Given the description of an element on the screen output the (x, y) to click on. 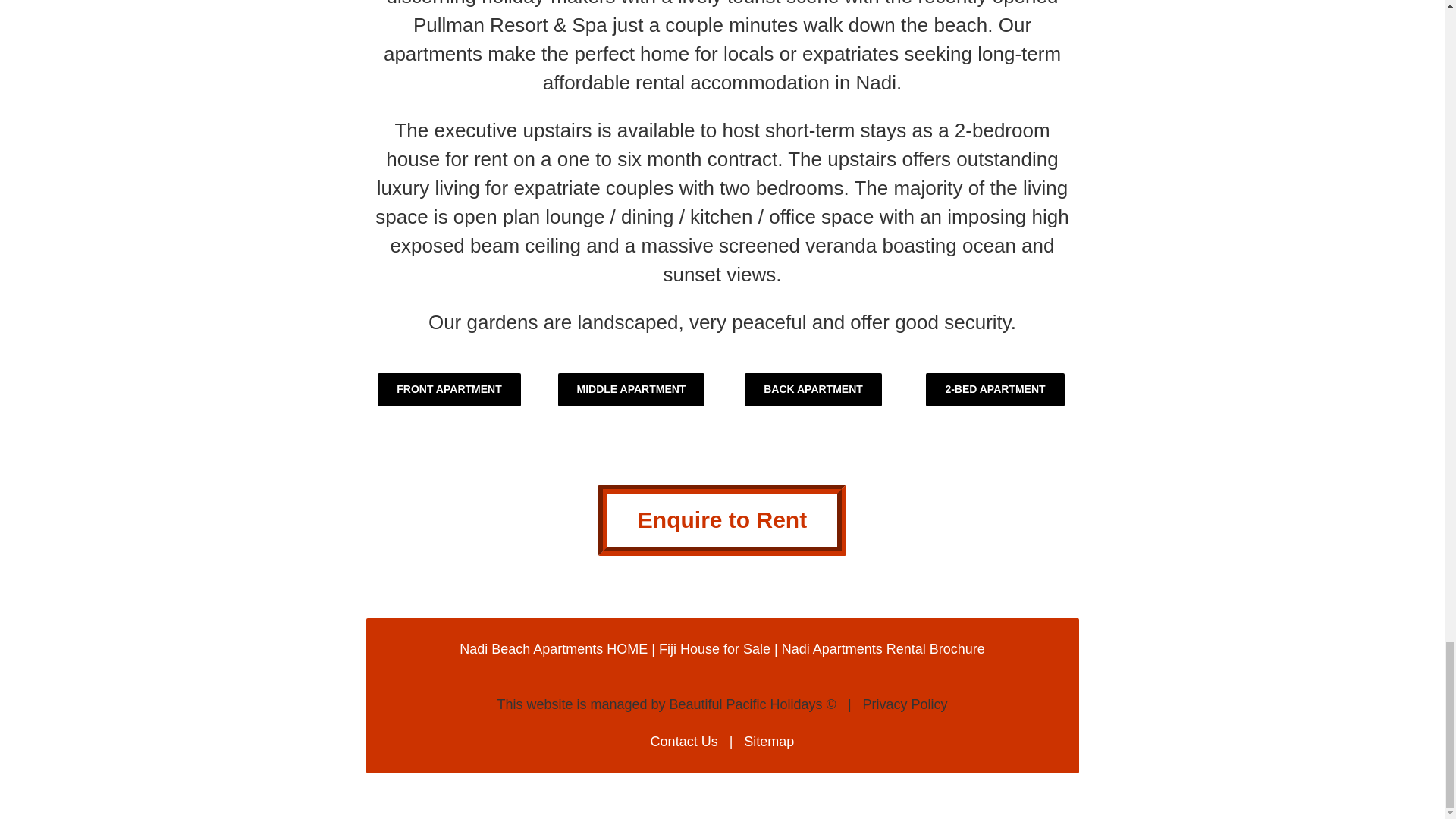
BACK APARTMENT (813, 389)
FRONT APARTMENT (448, 389)
MIDDLE APARTMENT (630, 389)
2-BED APARTMENT (995, 389)
Nadi Beach Apartments HOME (553, 648)
2-bedroom house for rent (717, 144)
Enquire to Rent (721, 520)
